Given the description of an element on the screen output the (x, y) to click on. 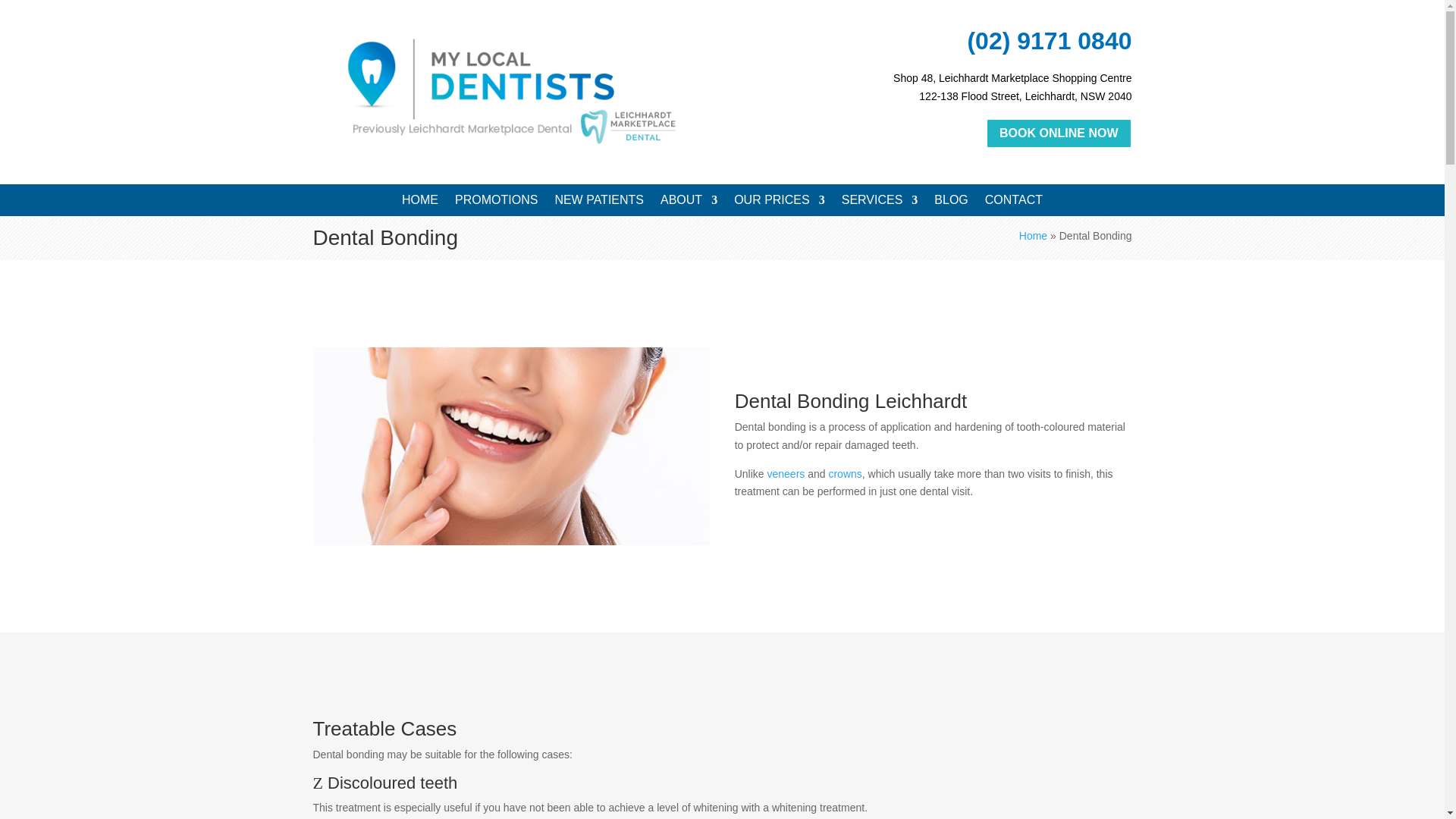
BOOK ONLINE NOW (1058, 133)
My-Local-Dentists-Previously-Leichhardt-Marketplace-Dental (510, 89)
